Given the description of an element on the screen output the (x, y) to click on. 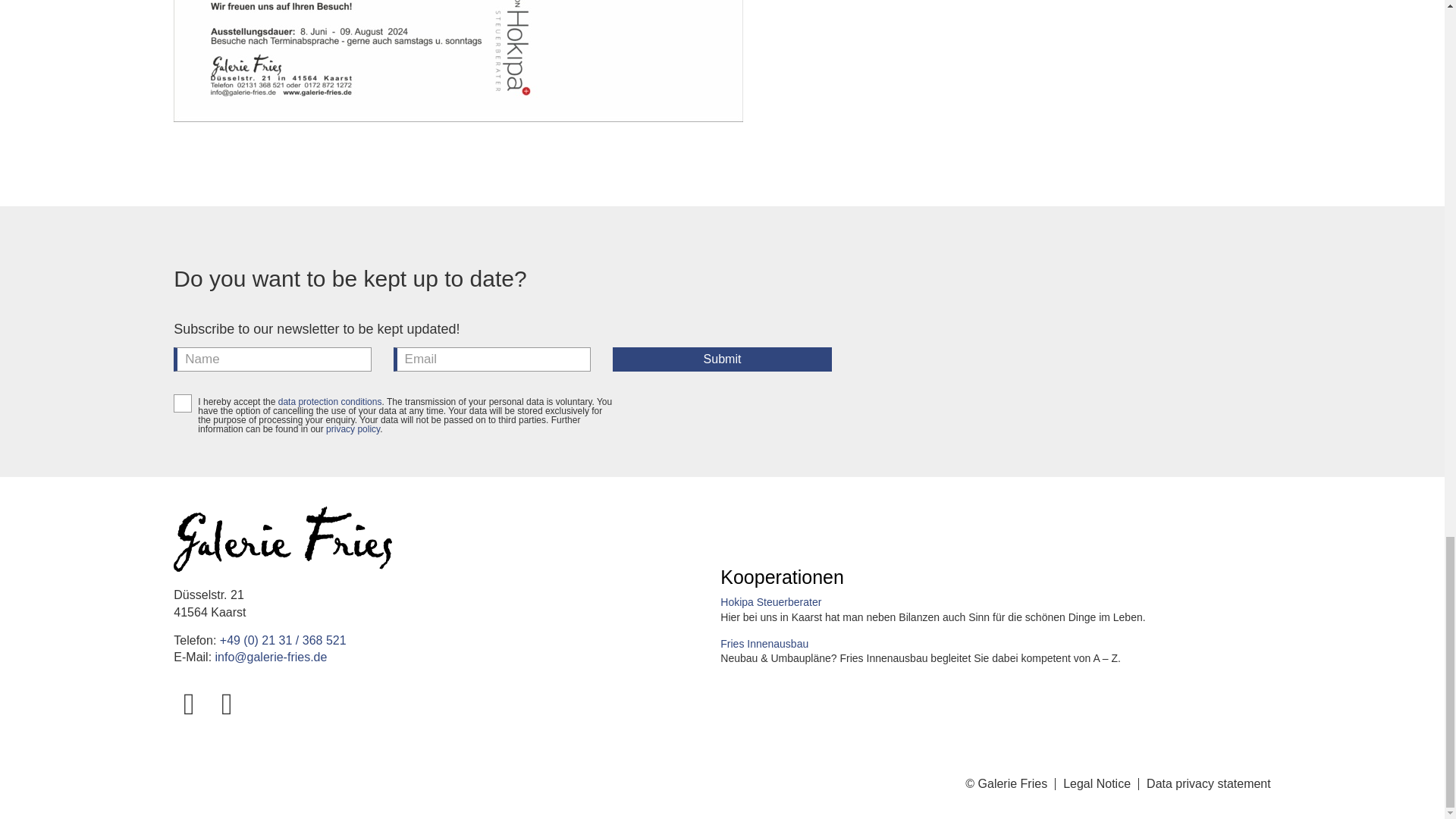
privacy policy (353, 429)
Data privacy statement (1209, 783)
Submit (721, 359)
Submit (721, 359)
Galerie Fries (282, 538)
data protection conditions (329, 401)
Hokipa Steuerberater (770, 602)
Legal Notice (1096, 783)
Fries Innenausbau (764, 644)
